Given the description of an element on the screen output the (x, y) to click on. 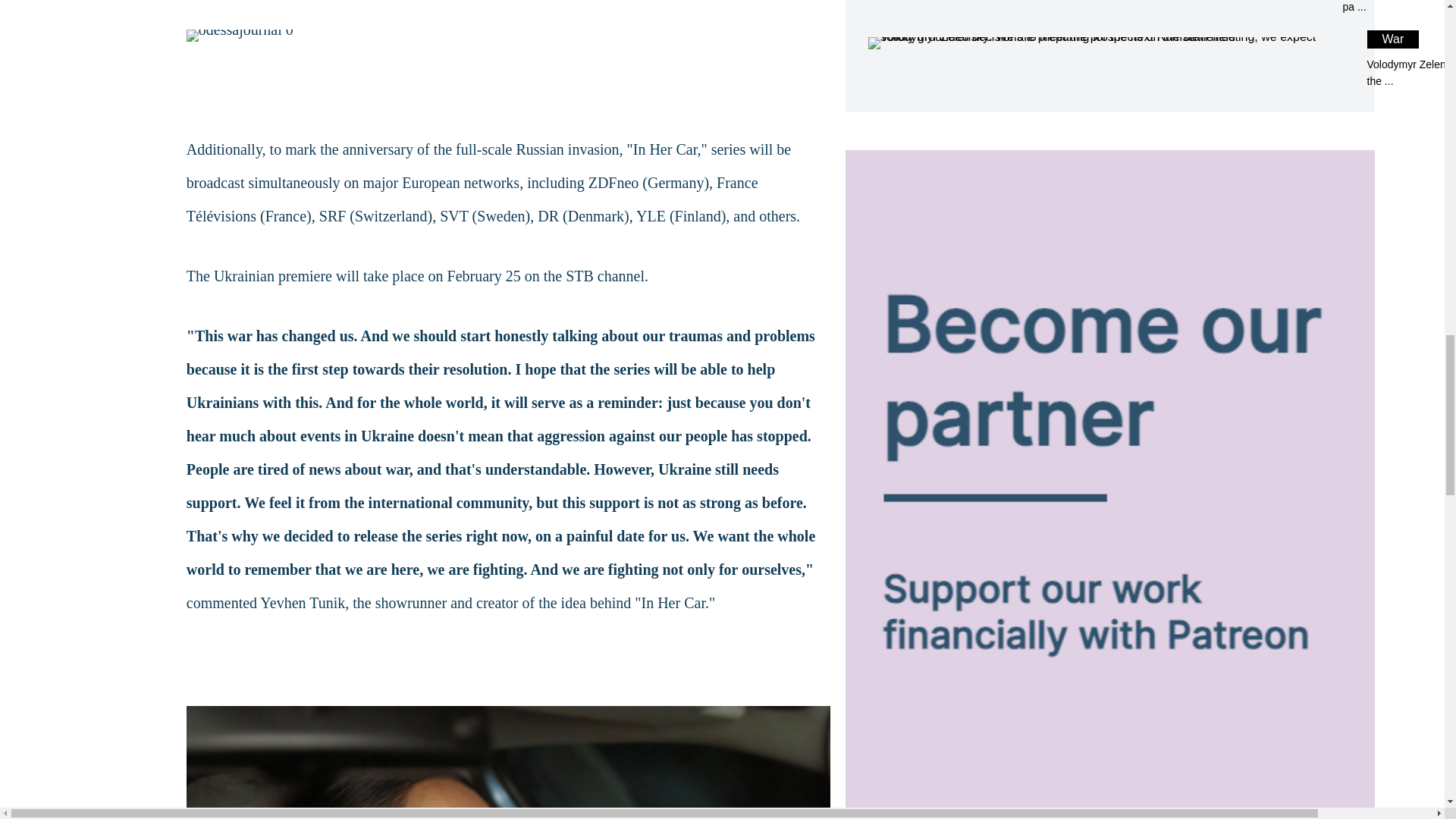
Read (1109, 59)
Read (1109, 7)
